Given the description of an element on the screen output the (x, y) to click on. 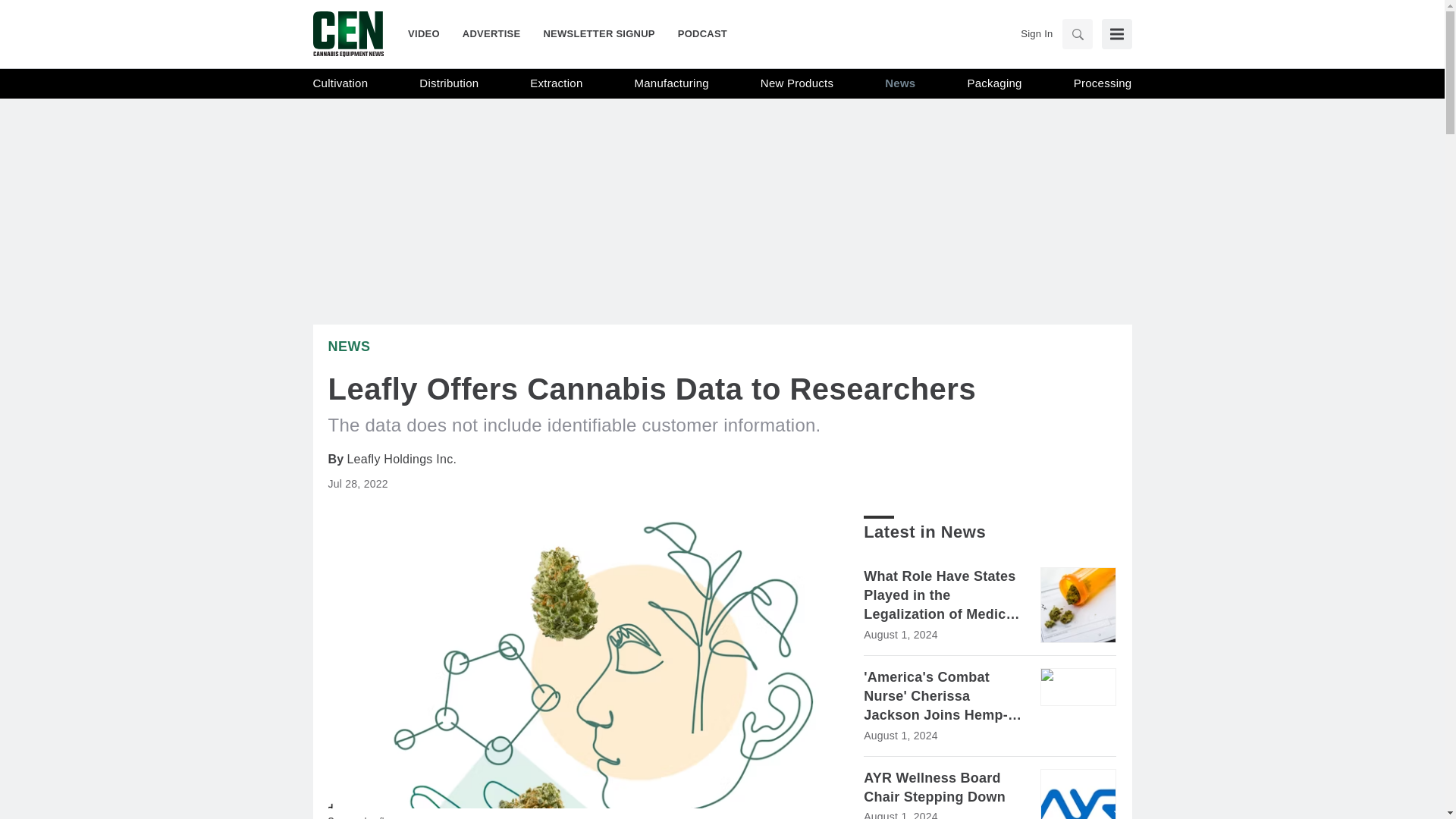
VIDEO (429, 33)
Sign In (1036, 33)
New Products (796, 83)
Processing (1103, 83)
Manufacturing (671, 83)
News (348, 346)
Packaging (994, 83)
Distribution (449, 83)
News (900, 83)
NEWSLETTER SIGNUP (598, 33)
Cultivation (340, 83)
PODCAST (696, 33)
Extraction (555, 83)
ADVERTISE (491, 33)
